Given the description of an element on the screen output the (x, y) to click on. 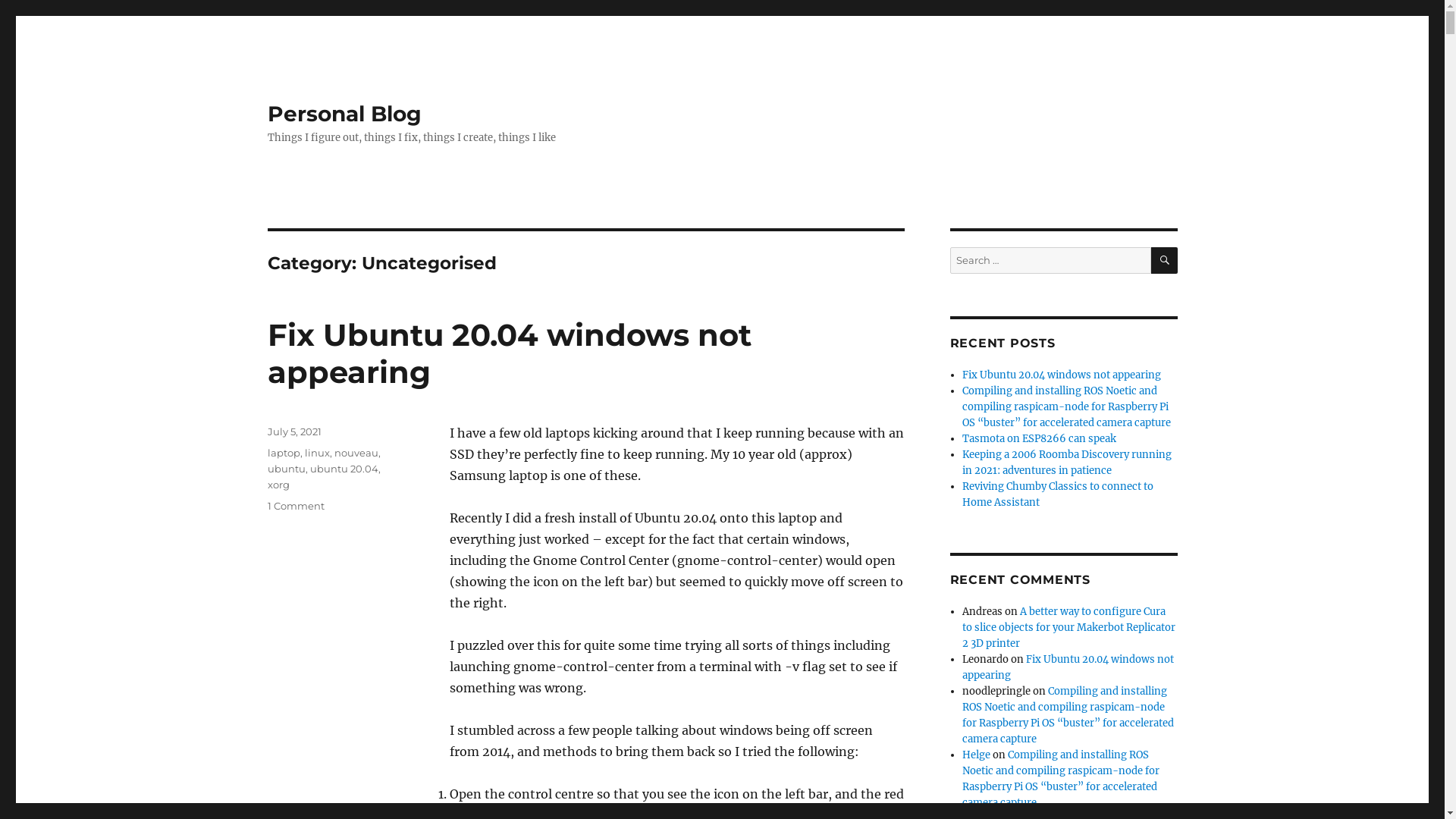
nouveau Element type: text (355, 452)
Reviving Chumby Classics to connect to Home Assistant Element type: text (1057, 494)
xorg Element type: text (277, 484)
SEARCH Element type: text (1164, 260)
Fix Ubuntu 20.04 windows not appearing Element type: text (1067, 666)
Fix Ubuntu 20.04 windows not appearing Element type: text (1061, 374)
July 5, 2021 Element type: text (293, 431)
laptop Element type: text (282, 452)
ubuntu Element type: text (285, 468)
Personal Blog Element type: text (343, 113)
ubuntu 20.04 Element type: text (343, 468)
Tasmota on ESP8266 can speak Element type: text (1039, 438)
1 Comment
on Fix Ubuntu 20.04 windows not appearing Element type: text (294, 505)
linux Element type: text (316, 452)
Fix Ubuntu 20.04 windows not appearing Element type: text (508, 353)
Helge Element type: text (976, 754)
